Given the description of an element on the screen output the (x, y) to click on. 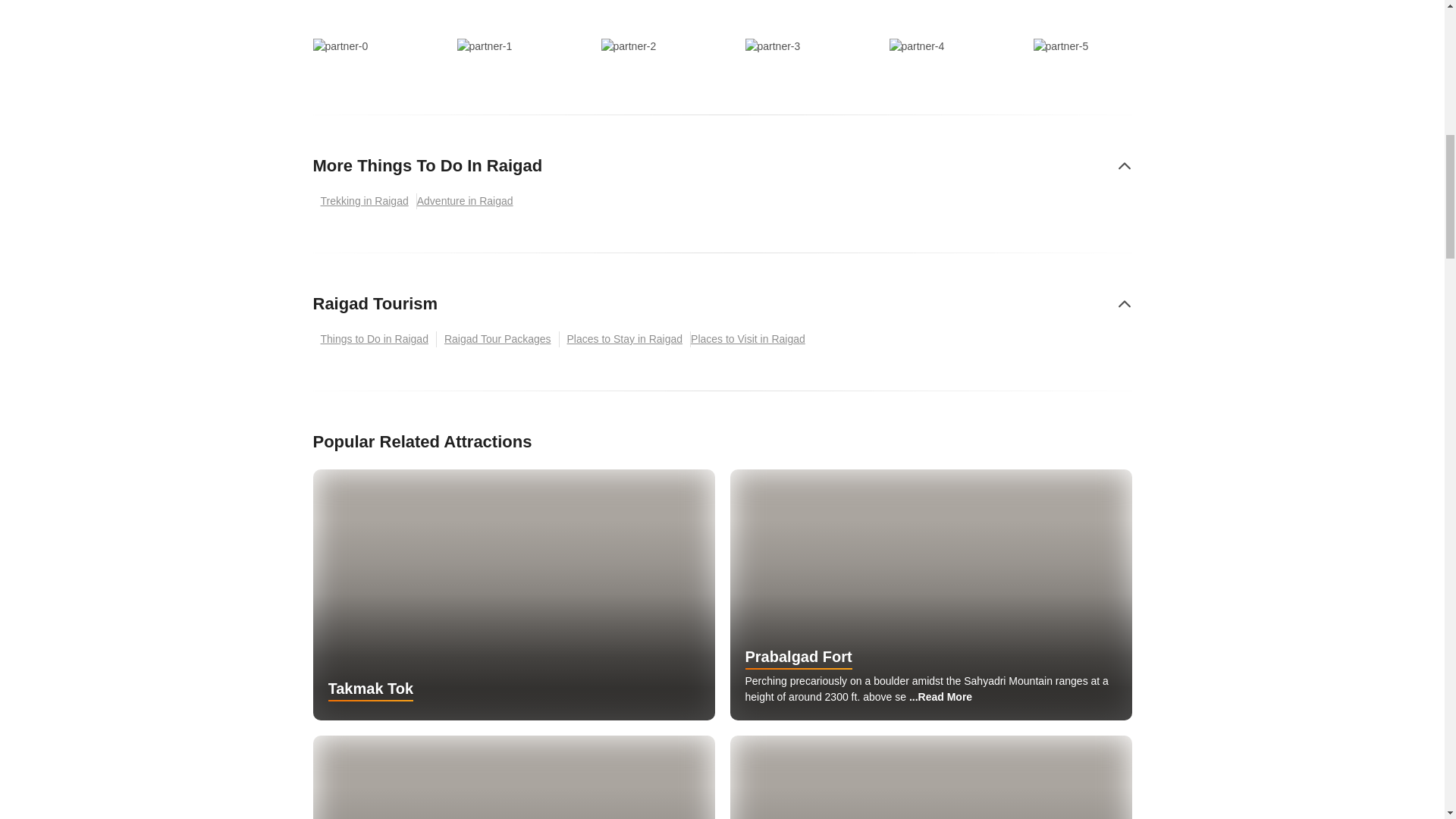
Jagadishwar Temple (513, 777)
Places to Visit in Raigad (751, 339)
Adventure in Raigad (468, 201)
Places to Stay in Raigad (625, 339)
Things to Do in Raigad (374, 339)
Gangasagar Lake (930, 777)
Raigad Tourism (375, 303)
Trekking in Raigad (364, 201)
Takmak Tok (513, 594)
Raigad Tour Packages (497, 339)
